Given the description of an element on the screen output the (x, y) to click on. 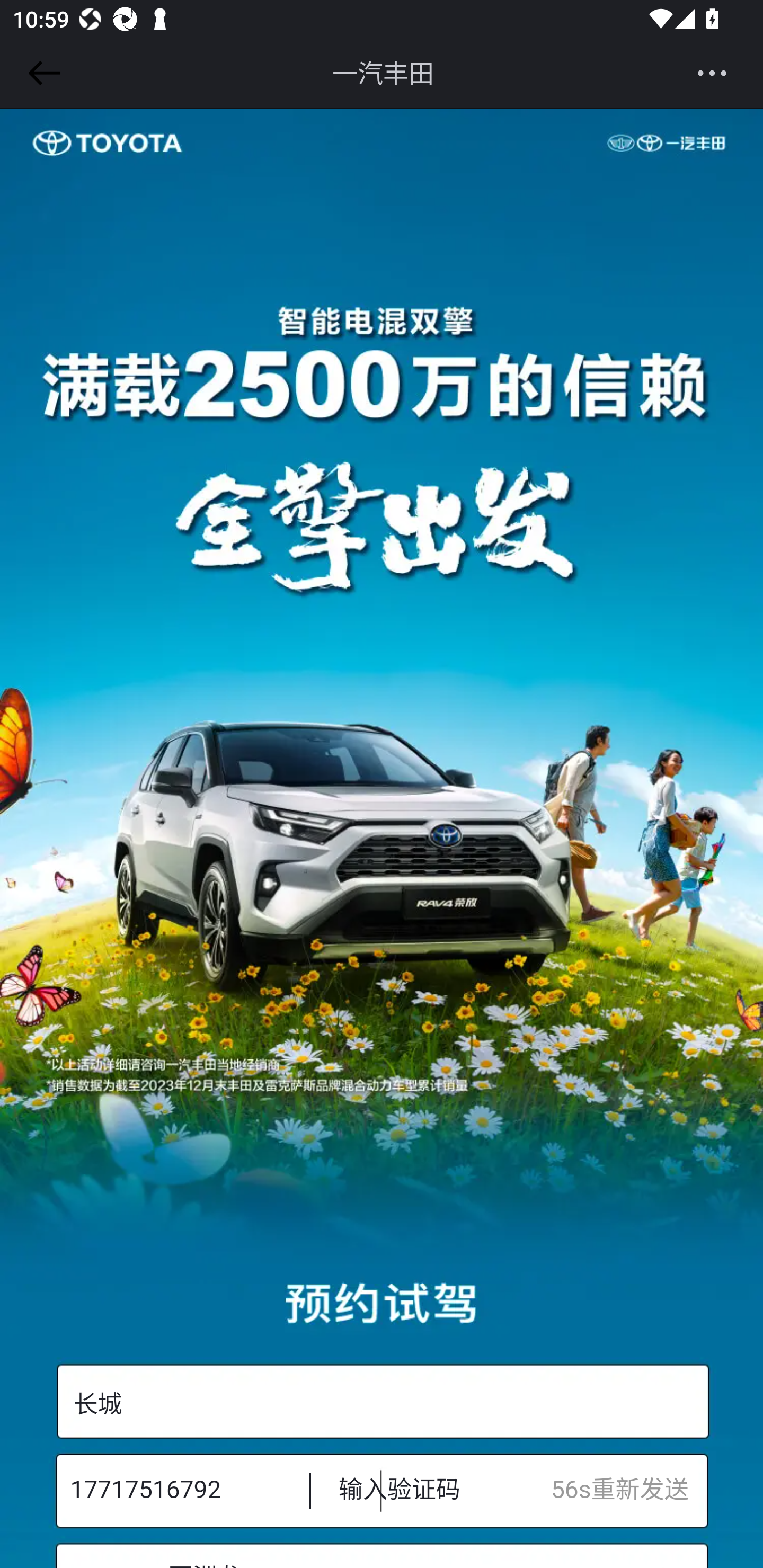
 (41, 72)
长城 (381, 1402)
17717516792 (176, 1490)
57s重新发送 (629, 1490)
